Given the description of an element on the screen output the (x, y) to click on. 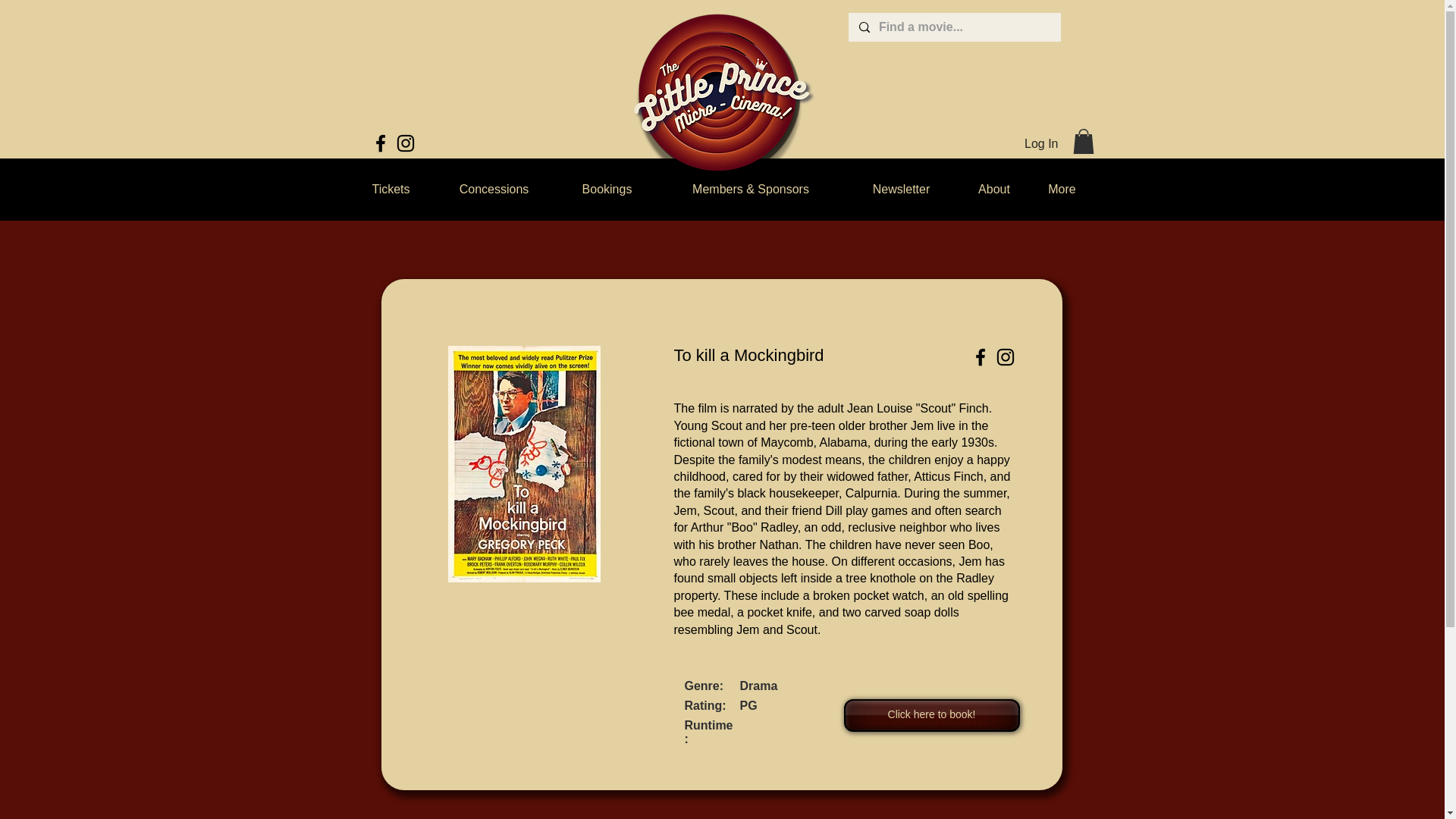
About (994, 189)
Alabama (843, 441)
LP Logo PNG.png (721, 99)
Click here to book! (931, 715)
Bookings (606, 189)
Log In (1040, 144)
Alabama (843, 441)
Concessions (493, 189)
Newsletter (901, 189)
Tickets (390, 189)
